Given the description of an element on the screen output the (x, y) to click on. 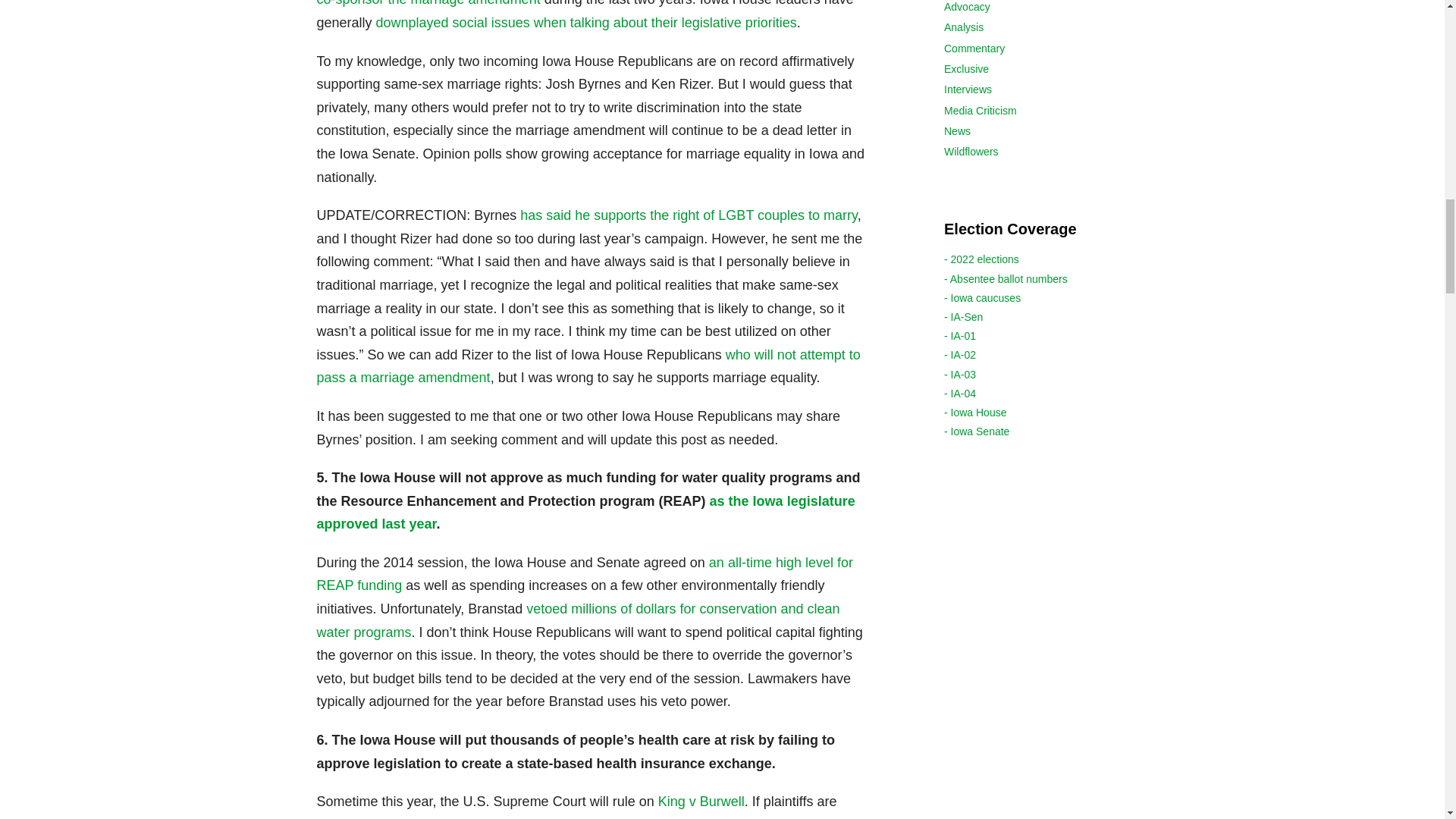
has said he supports the right of LGBT couples to marry (688, 215)
King v Burwell (701, 801)
an all-time high level for REAP funding (585, 574)
as the Iowa legislature approved last year (586, 512)
who will not attempt to pass a marriage amendment (588, 366)
